Given the description of an element on the screen output the (x, y) to click on. 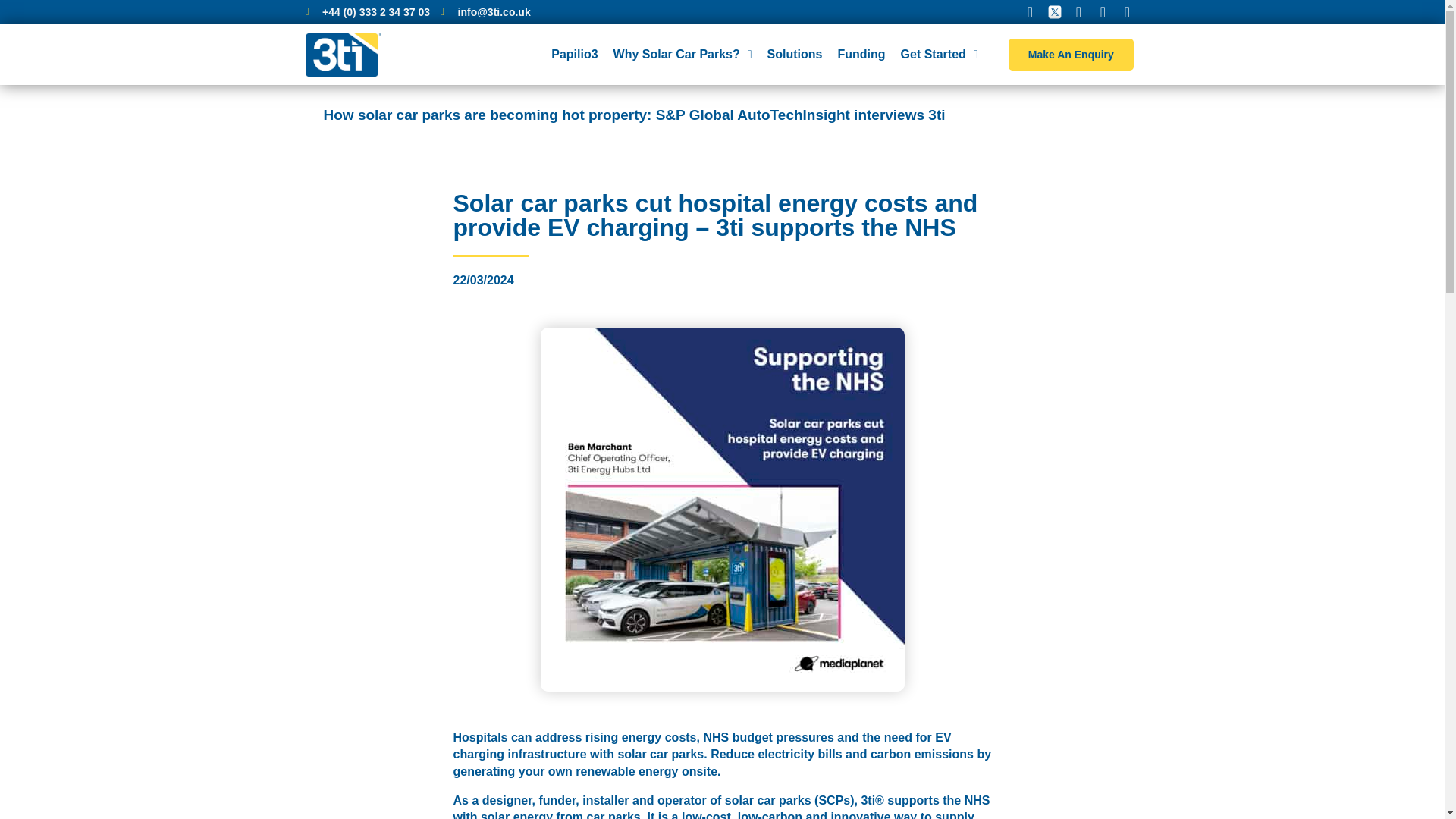
Facebook (1029, 12)
Youtube (1126, 12)
Papilio3 (573, 54)
Linkedin (1102, 12)
Make An Enquiry (1071, 54)
Funding (861, 54)
Instagram (1077, 12)
Get Started (939, 54)
Solutions (794, 54)
Why Solar Car Parks? (682, 54)
